Given the description of an element on the screen output the (x, y) to click on. 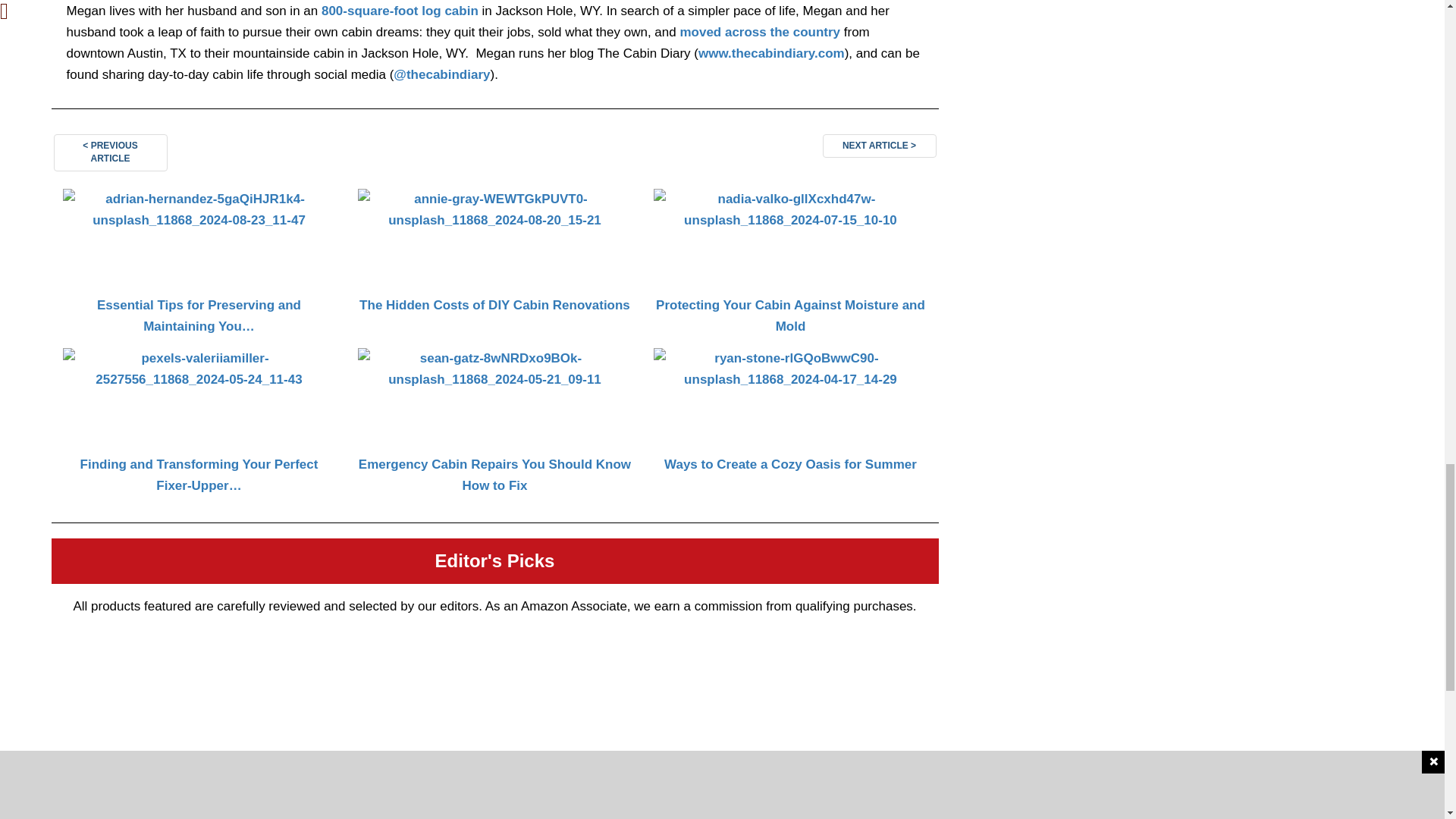
Essential Tips for Preserving and Maintaining Your Log Cabin (198, 264)
Protecting Your Cabin Against Moisture and Mold (789, 264)
The Hidden Costs of DIY Cabin Renovations (494, 264)
Finding and Transforming Your Perfect Fixer-Upper Cabin (198, 423)
Emergency Cabin Repairs You Should Know How to Fix (494, 423)
